Given the description of an element on the screen output the (x, y) to click on. 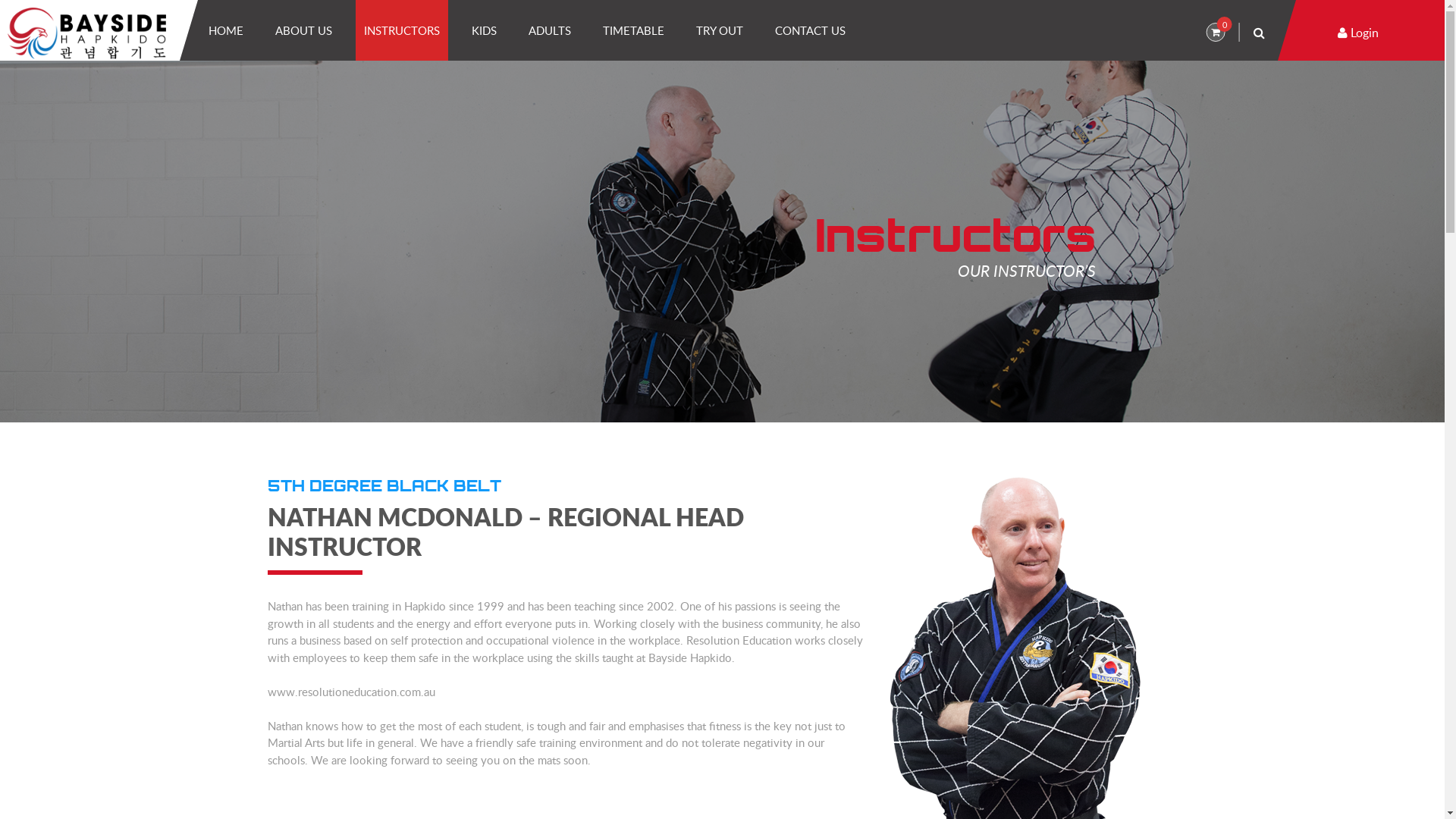
HOME Element type: text (225, 30)
ADULTS Element type: text (549, 30)
TIMETABLE Element type: text (633, 30)
Login Element type: text (1357, 32)
INSTRUCTORS Element type: text (401, 30)
0 Element type: text (1214, 31)
TRY OUT Element type: text (719, 30)
KIDS Element type: text (484, 30)
Hapkido Element type: hover (86, 33)
CONTACT US Element type: text (809, 30)
ABOUT US Element type: text (303, 30)
